Given the description of an element on the screen output the (x, y) to click on. 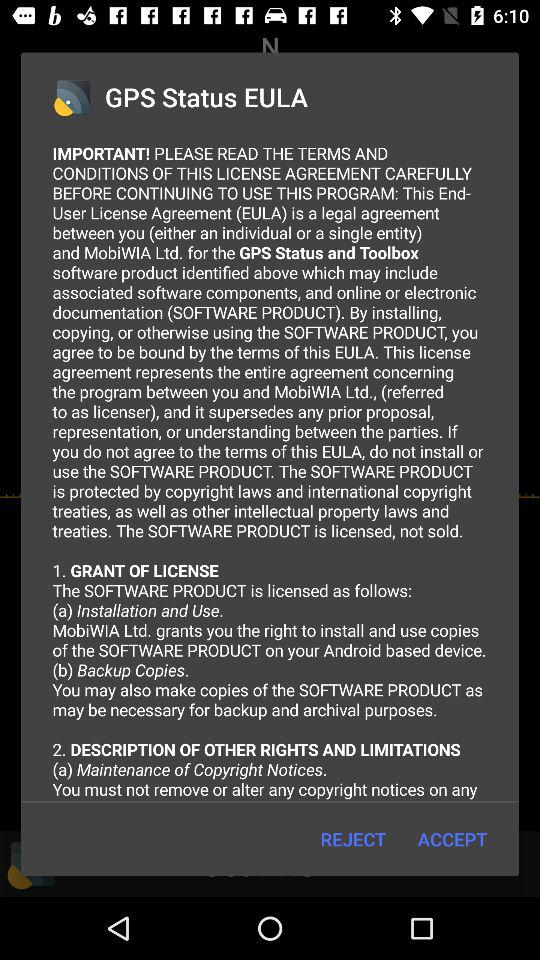
scroll to the accept icon (452, 838)
